Given the description of an element on the screen output the (x, y) to click on. 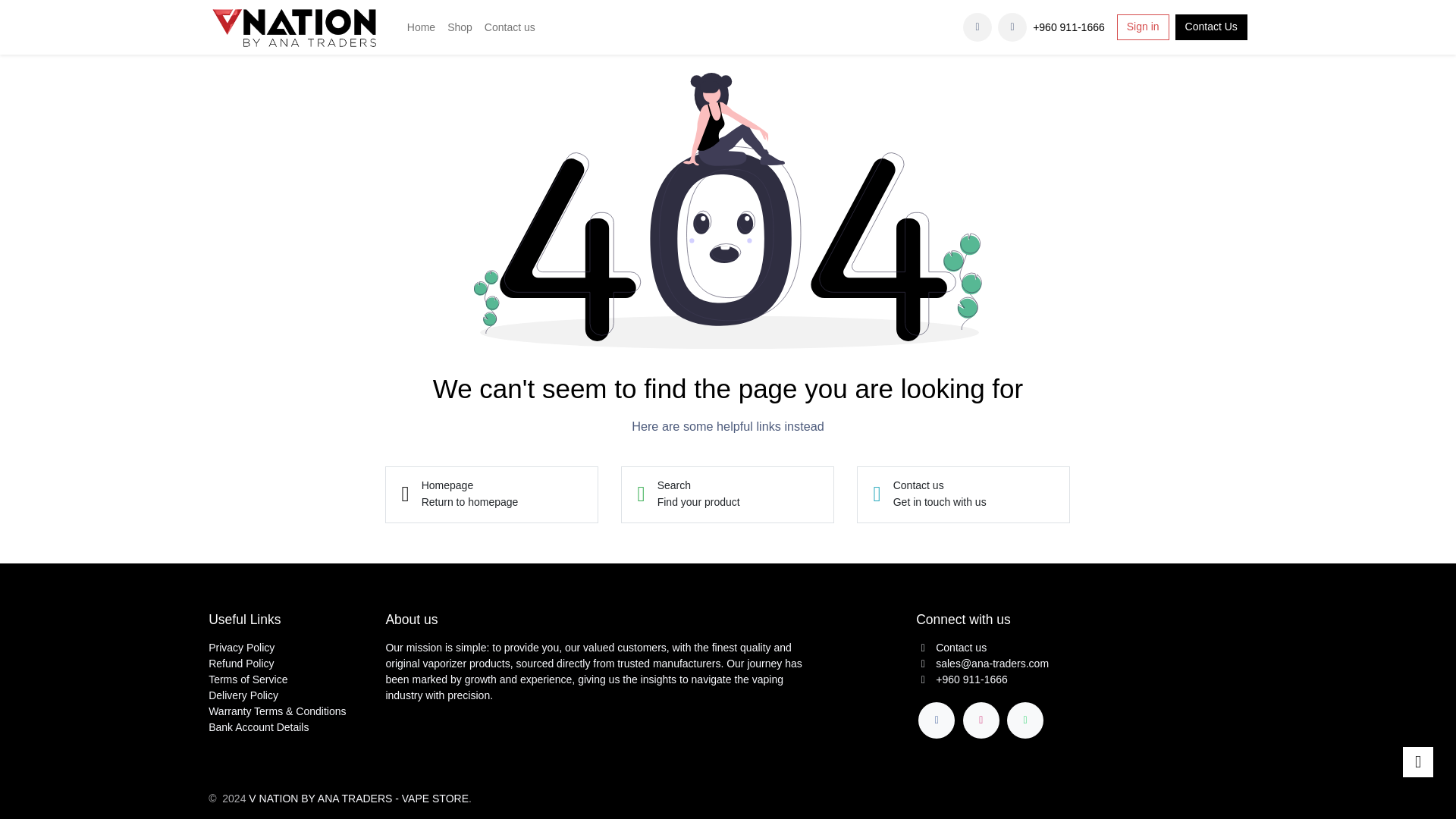
Contact Us (1210, 27)
Shop (727, 495)
Search (460, 27)
Contact us (1011, 27)
Scroll back to top (510, 27)
Sign in (1417, 761)
V Nation (1142, 27)
